Given the description of an element on the screen output the (x, y) to click on. 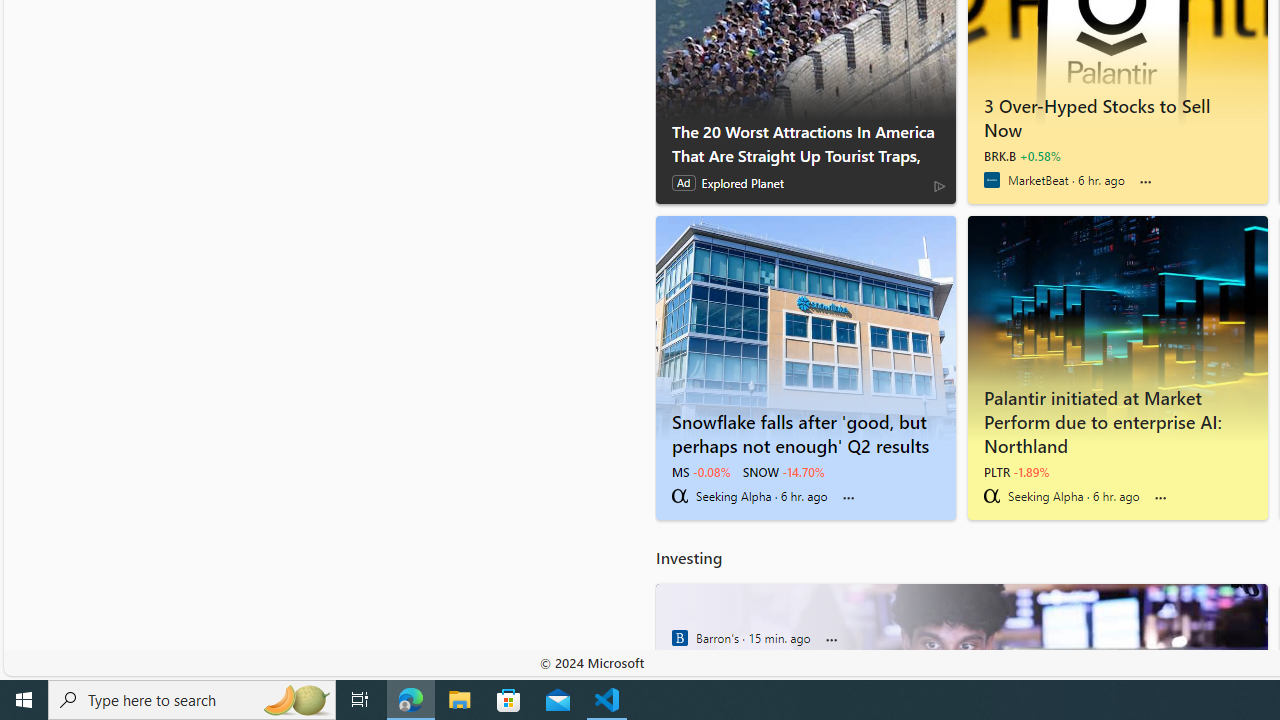
SNOW -14.70% (783, 471)
AdChoices (939, 186)
BRK.B +0.58% (1022, 156)
MarketBeat (991, 179)
